Given the description of an element on the screen output the (x, y) to click on. 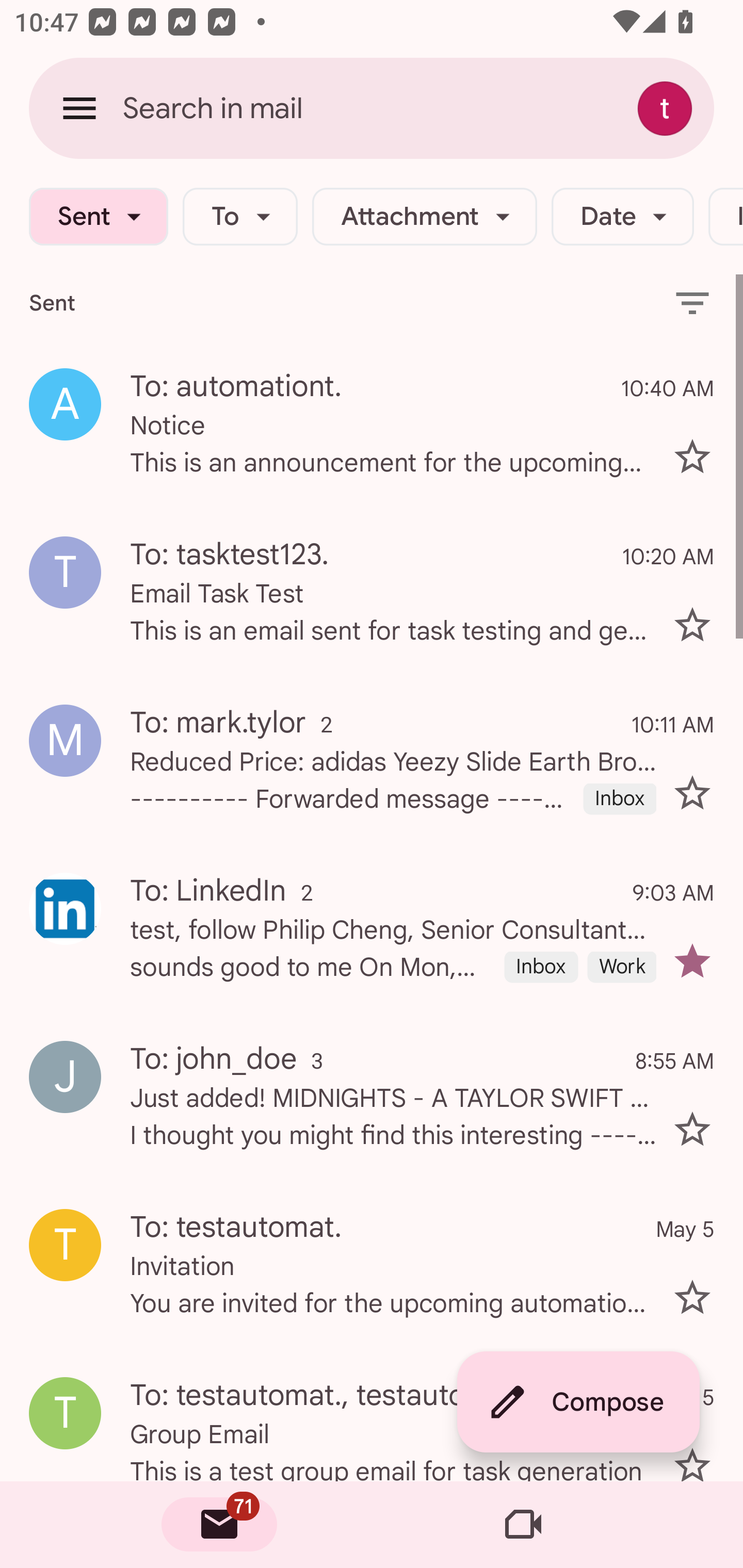
Open navigation drawer (79, 108)
Sent (97, 217)
To (239, 217)
Attachment (424, 217)
Date (622, 217)
Filter icon (692, 302)
Compose (577, 1401)
Meet (523, 1524)
